Given the description of an element on the screen output the (x, y) to click on. 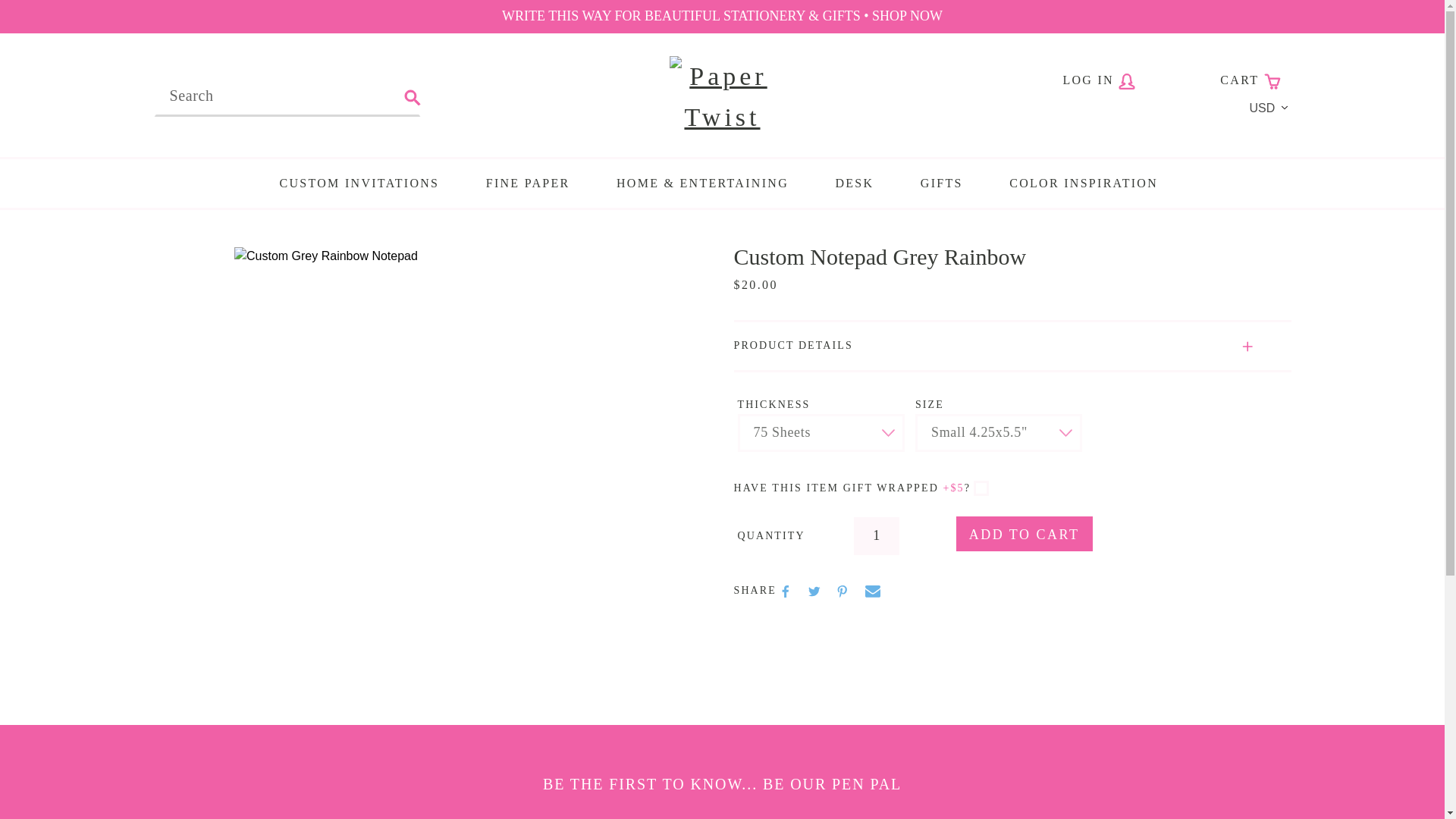
LOG IN (1099, 80)
1 (876, 535)
Share by Email (872, 591)
SUBMIT (413, 96)
31795659669555 (981, 488)
CART (1250, 80)
